Given the description of an element on the screen output the (x, y) to click on. 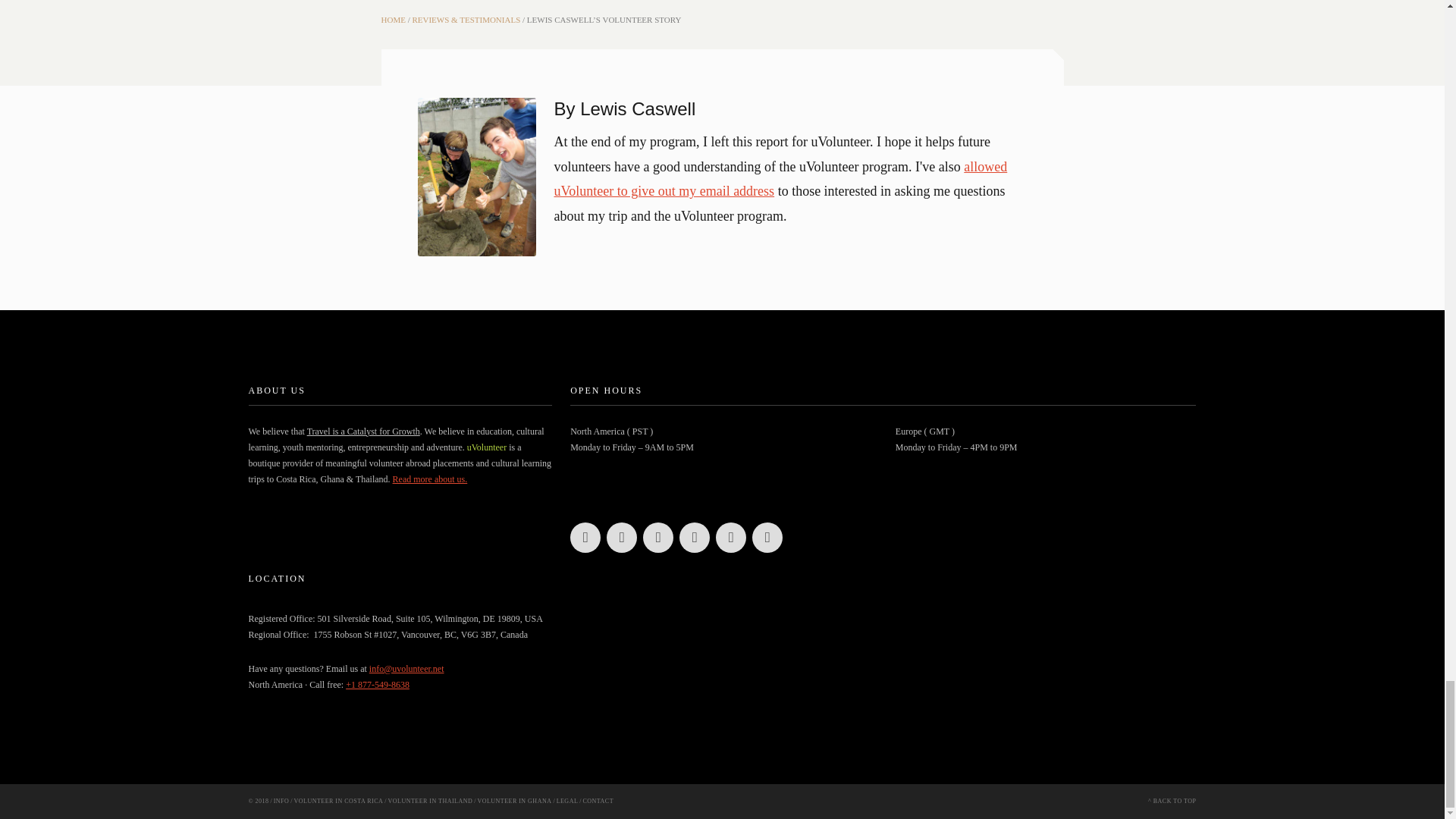
HOME (392, 19)
Instagram (584, 537)
Twitter (622, 537)
